Given the description of an element on the screen output the (x, y) to click on. 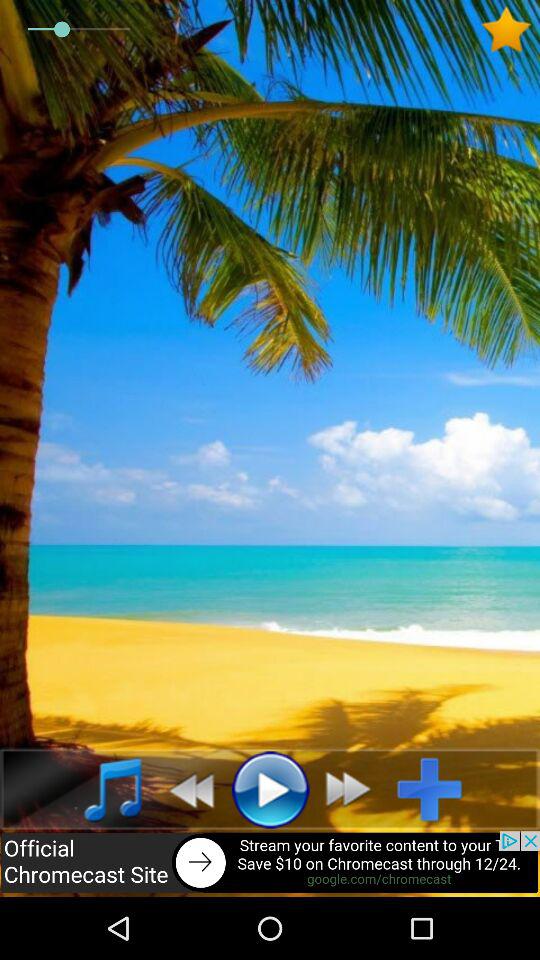
add song (438, 789)
